Given the description of an element on the screen output the (x, y) to click on. 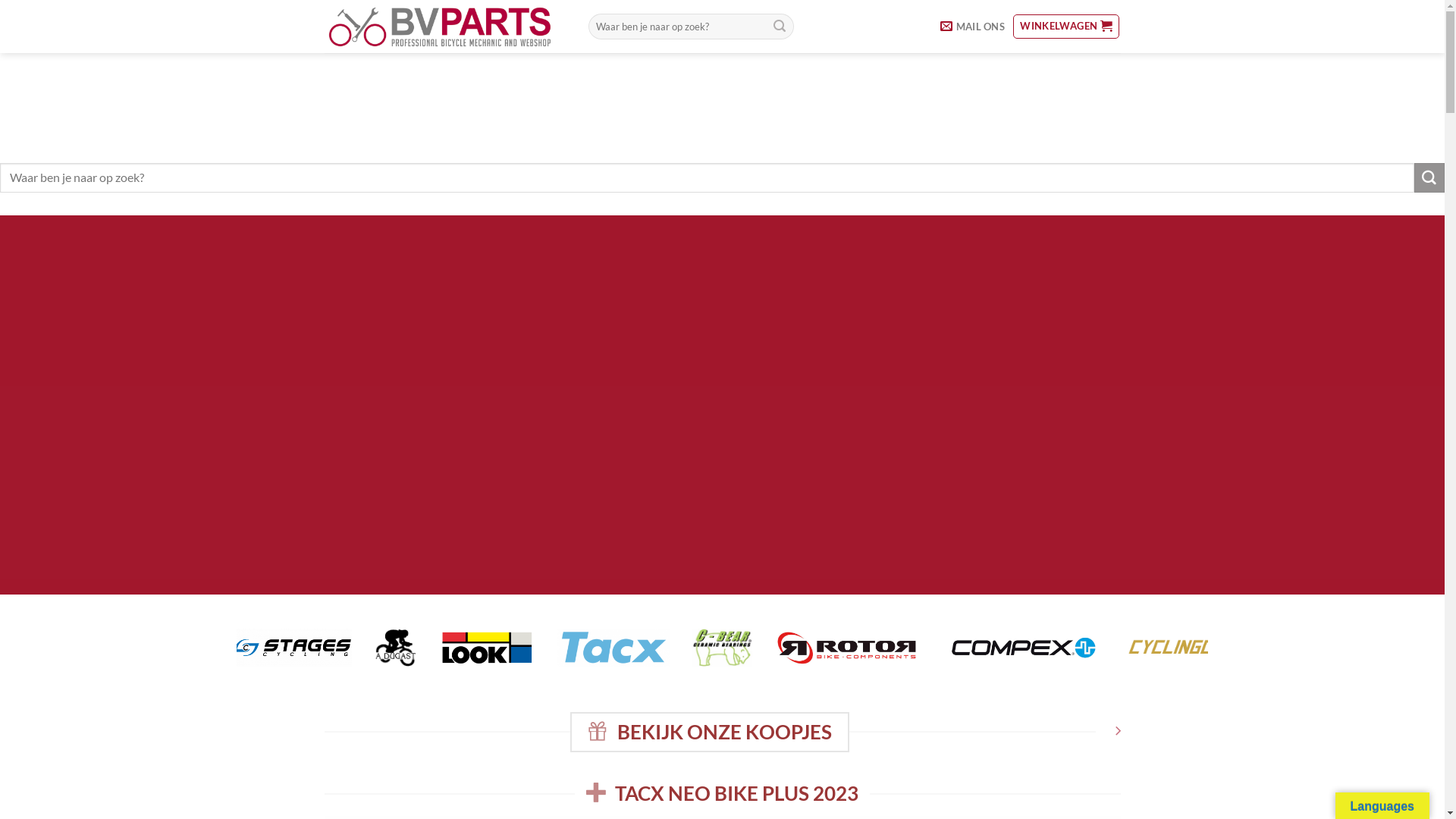
Zoeken Element type: text (779, 26)
MAIL ONS Element type: text (972, 26)
WINKELWAGEN Element type: text (1066, 26)
Zoeken Element type: text (1429, 178)
BVPARTS - Professional Bicycle Mechanic and Webshop! Element type: hover (444, 26)
